Given the description of an element on the screen output the (x, y) to click on. 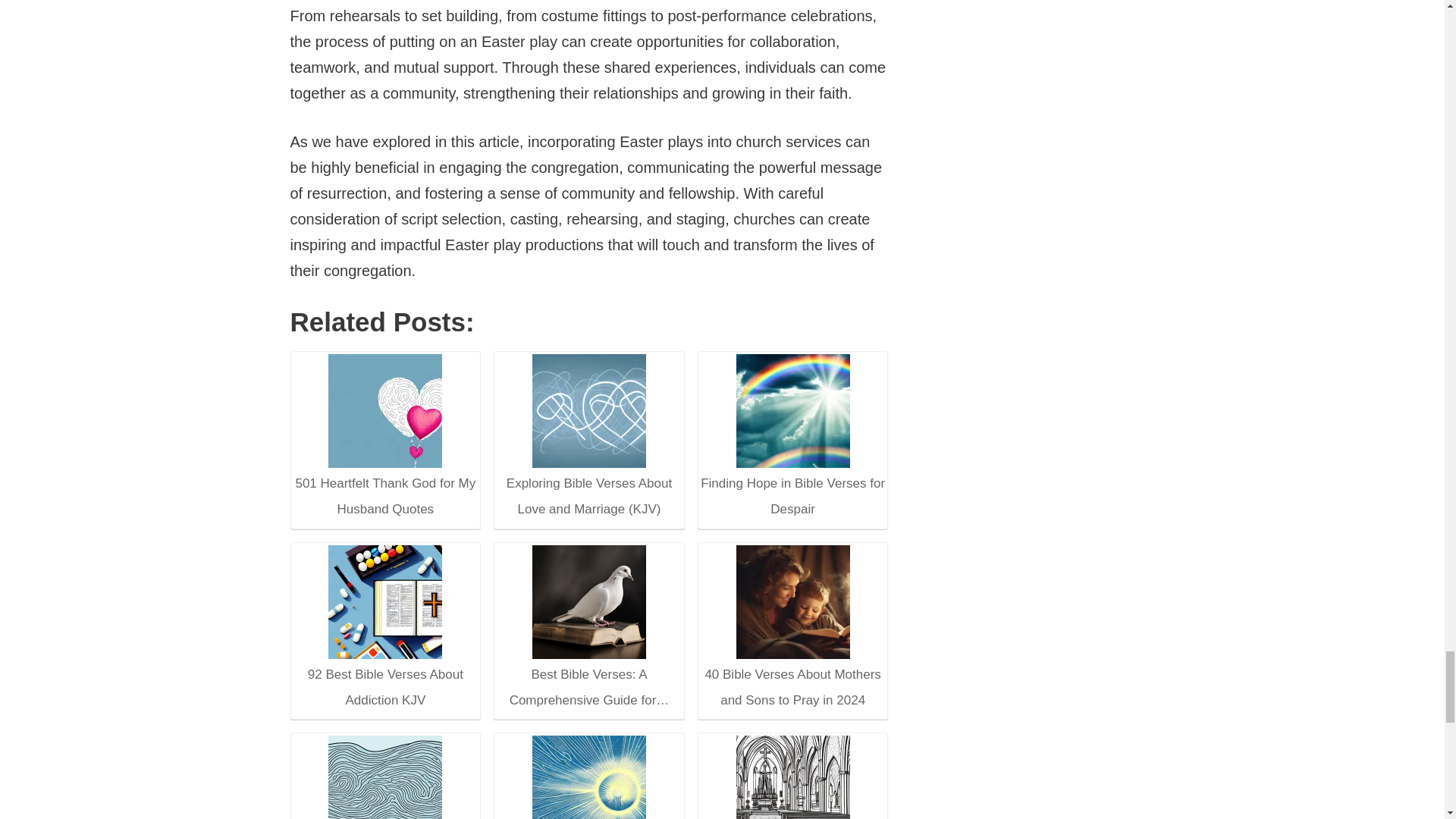
92 Best Bible Verses About Addiction KJV (384, 631)
Finding Hope in Bible Verses for Despair (792, 437)
501 Heartfelt Thank God for My Husband Quotes (384, 441)
501 Heartfelt Thank God for My Husband Quotes (385, 410)
157 Inspirational Verses About Life from the Bible (384, 778)
157 Inspirational Verses About Life from the Bible (385, 777)
Finding Hope in Bible Verses for Despair (793, 410)
40 Bible Verses About Mothers and Sons to Pray in 2024 (793, 601)
120 KJV Verses for Dealing with Depression (589, 777)
92 Best Bible Verses About Addiction KJV (385, 601)
40 Bible Verses About Mothers and Sons to Pray in 2024 (792, 629)
120 KJV Verses for Dealing with Depression (588, 777)
